Given the description of an element on the screen output the (x, y) to click on. 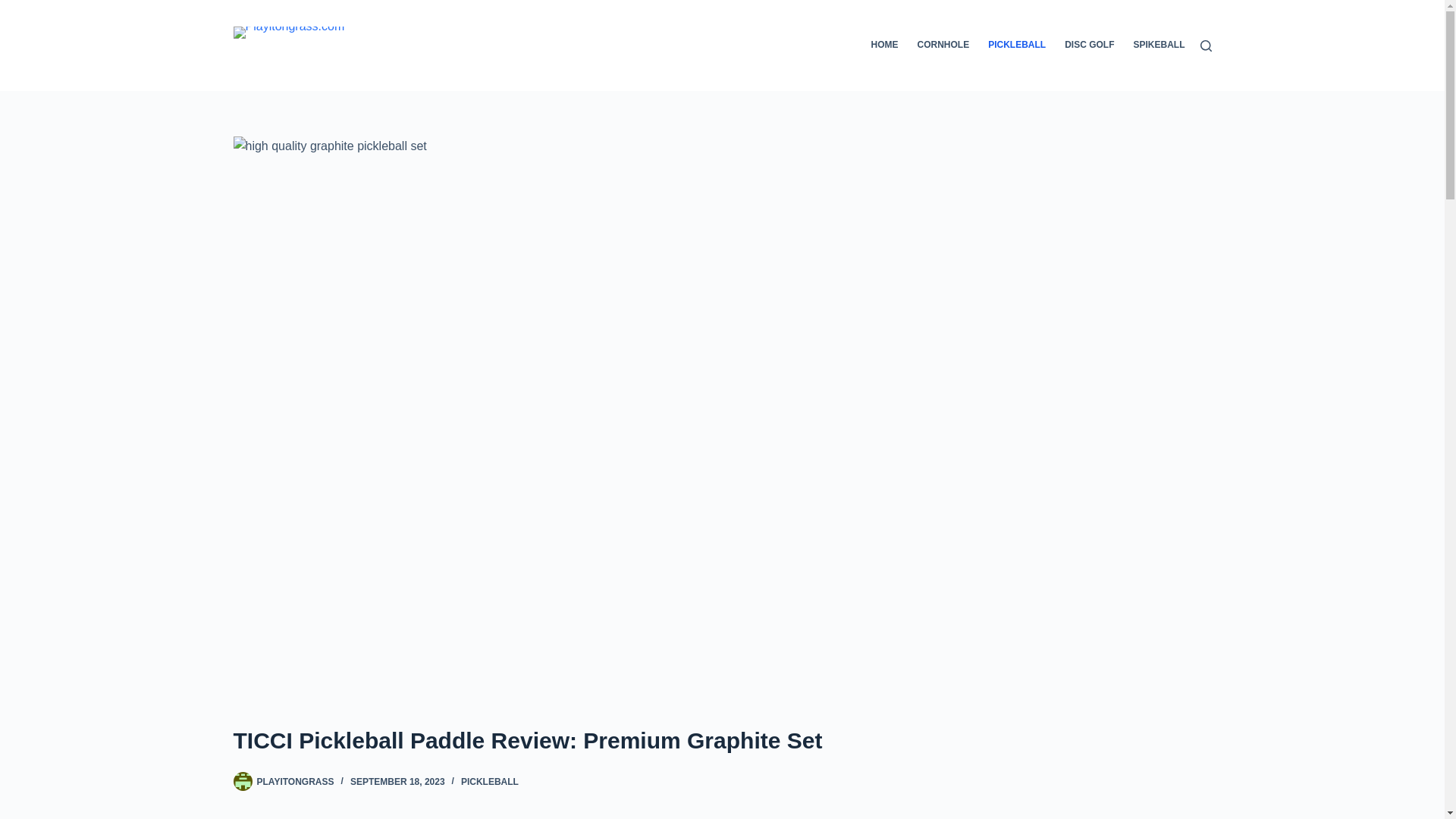
TICCI Pickleball Paddle Review: Premium Graphite Set (721, 740)
PICKLEBALL (489, 781)
PLAYITONGRASS (294, 781)
Skip to content (15, 7)
Posts by Playitongrass (294, 781)
